Given the description of an element on the screen output the (x, y) to click on. 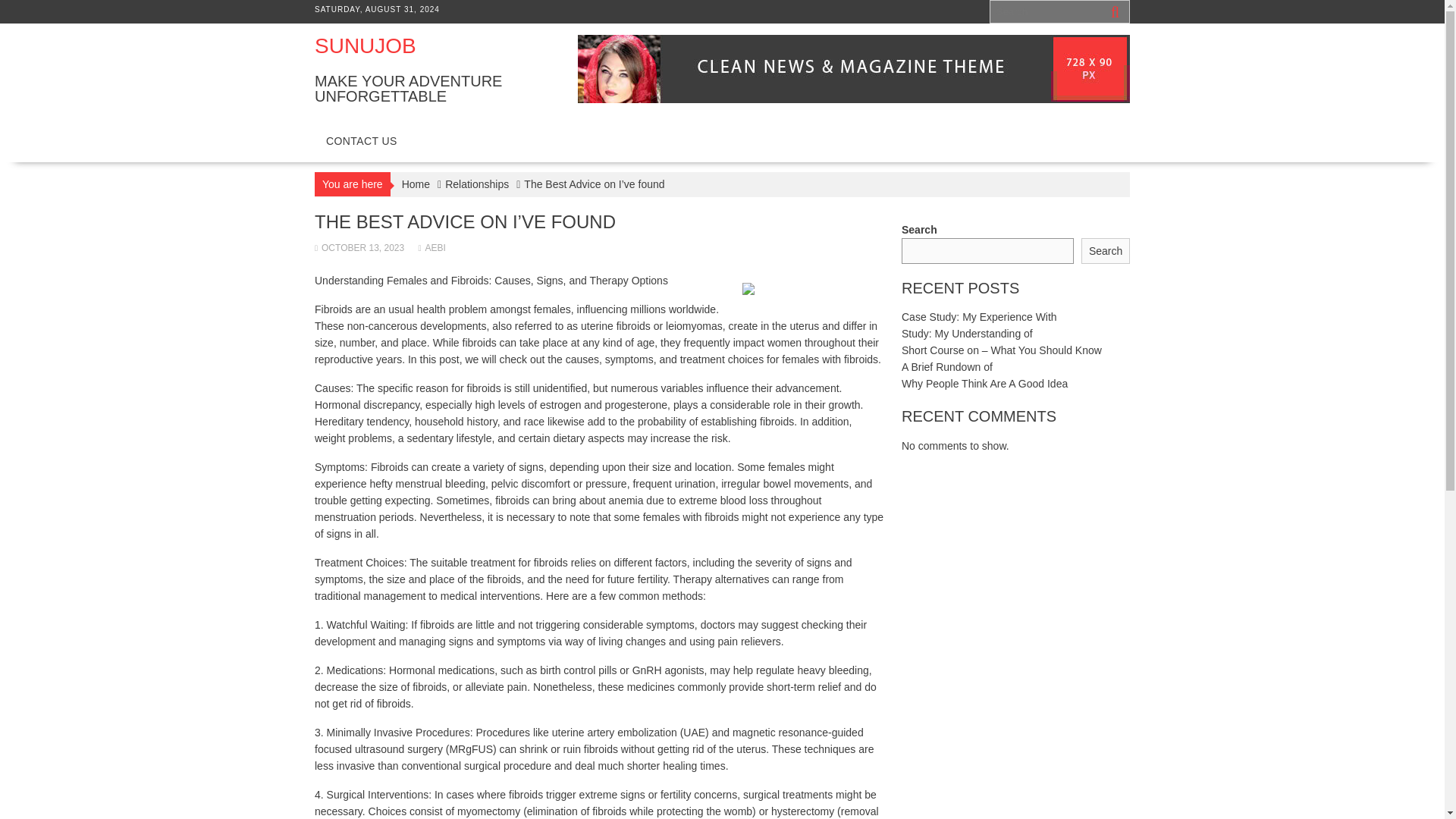
Why People Think Are A Good Idea (984, 383)
A Brief Rundown of (946, 367)
Relationships (476, 184)
SUNUJOB (365, 45)
OCTOBER 13, 2023 (359, 247)
Home (415, 184)
Case Study: My Experience With (979, 316)
CONTACT US (361, 140)
Study: My Understanding of (966, 333)
Search (1105, 251)
